Given the description of an element on the screen output the (x, y) to click on. 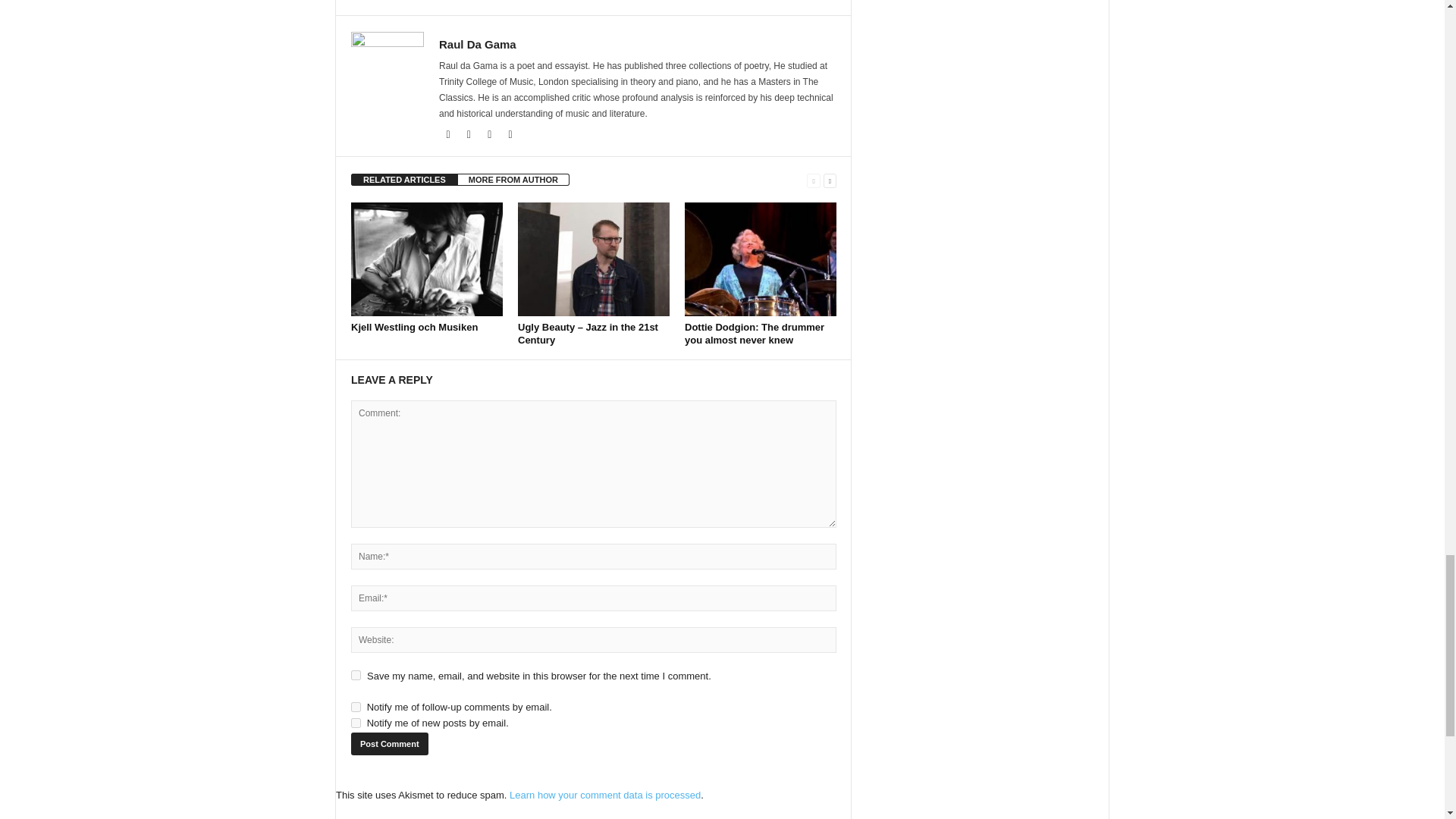
subscribe (355, 706)
Post Comment (389, 743)
subscribe (355, 723)
yes (355, 675)
